Given the description of an element on the screen output the (x, y) to click on. 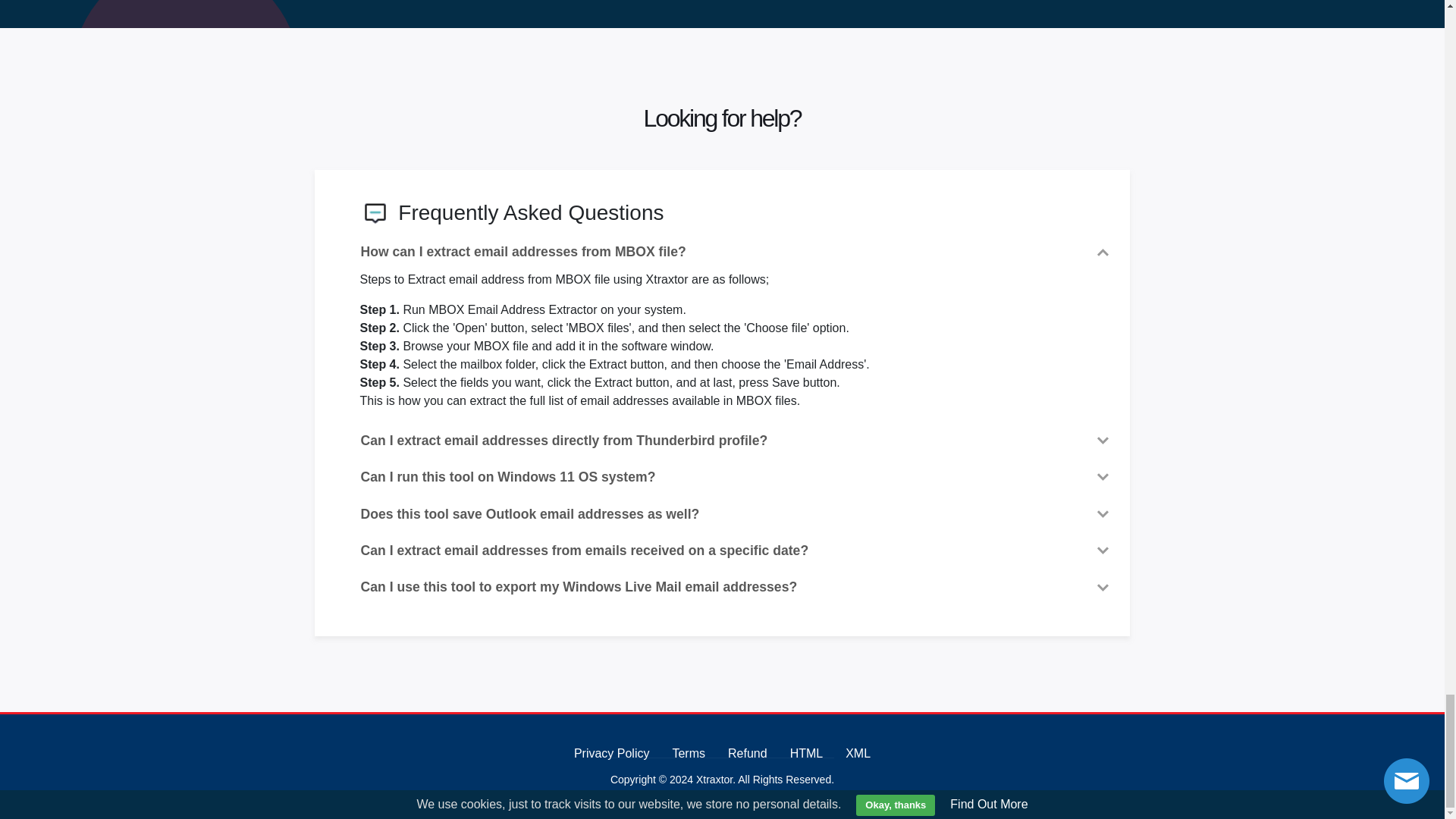
Does this tool save Outlook email addresses as well? (735, 514)
Terms (687, 753)
XML (857, 753)
Privacy Policy (611, 753)
Can I run this tool on Windows 11 OS system? (735, 476)
How can I extract email addresses from MBOX file? (735, 251)
Refund (747, 753)
